Given the description of an element on the screen output the (x, y) to click on. 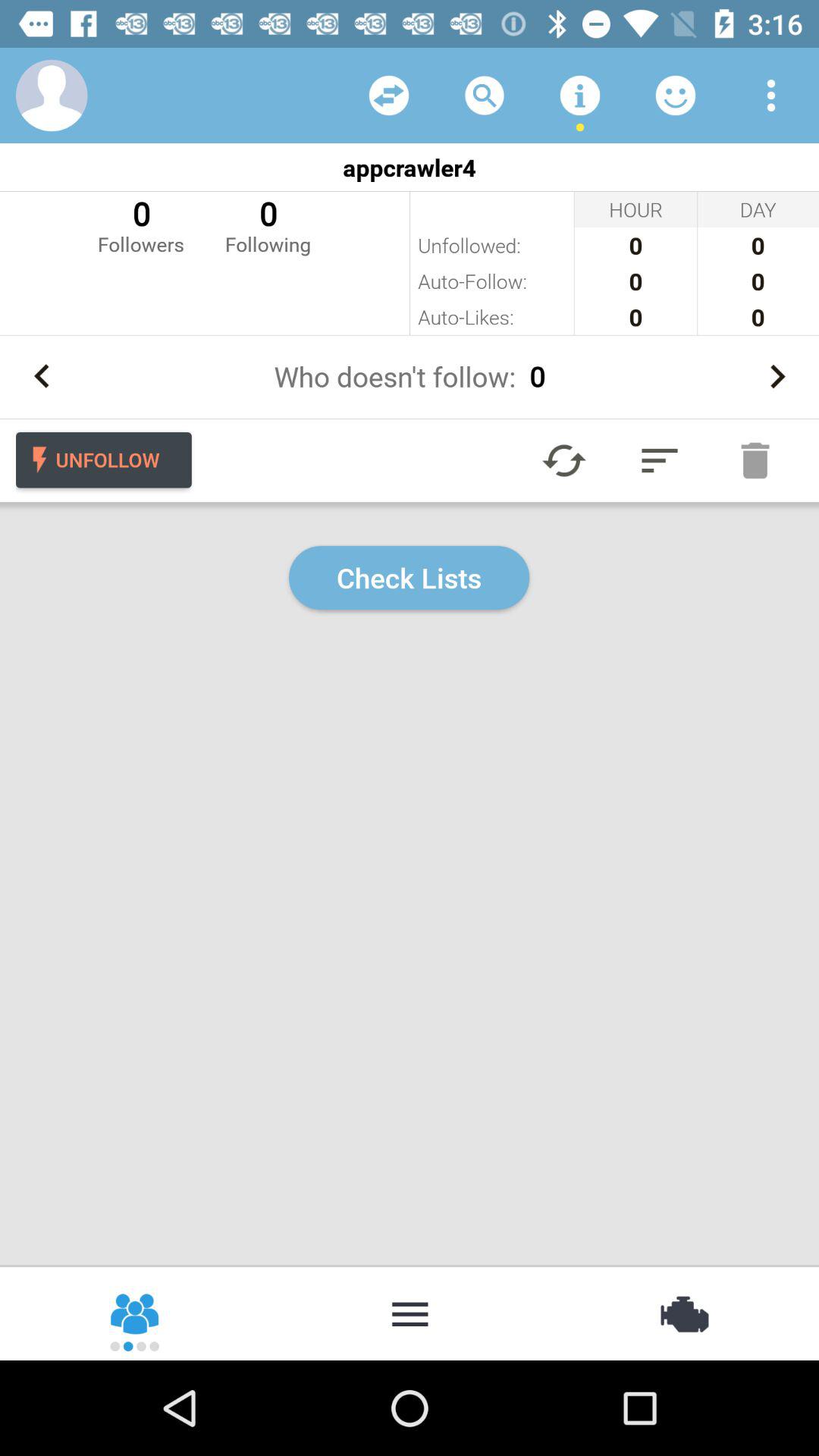
opens emoticon menu (675, 95)
